Given the description of an element on the screen output the (x, y) to click on. 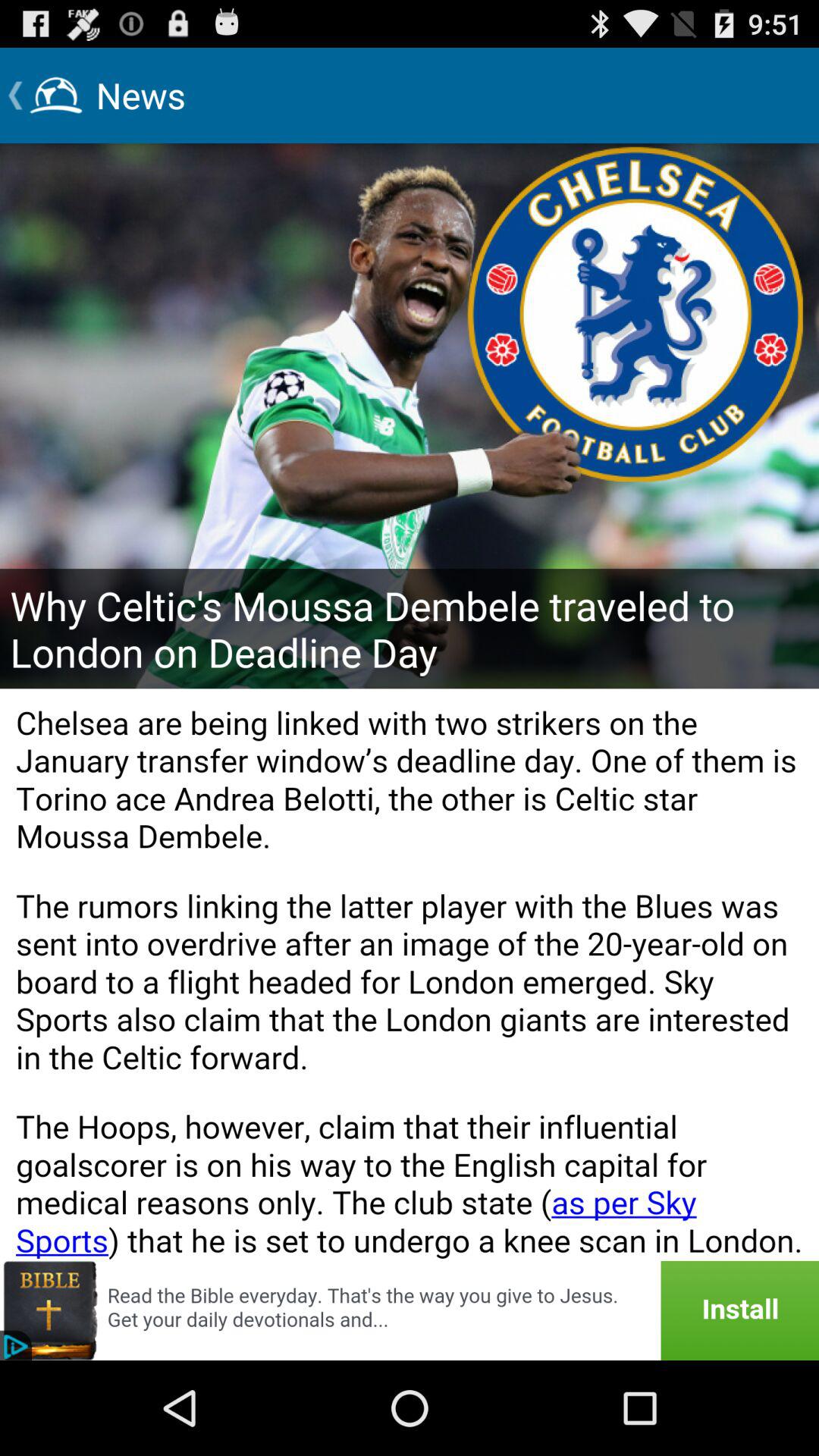
advertisement banner (409, 1310)
